Given the description of an element on the screen output the (x, y) to click on. 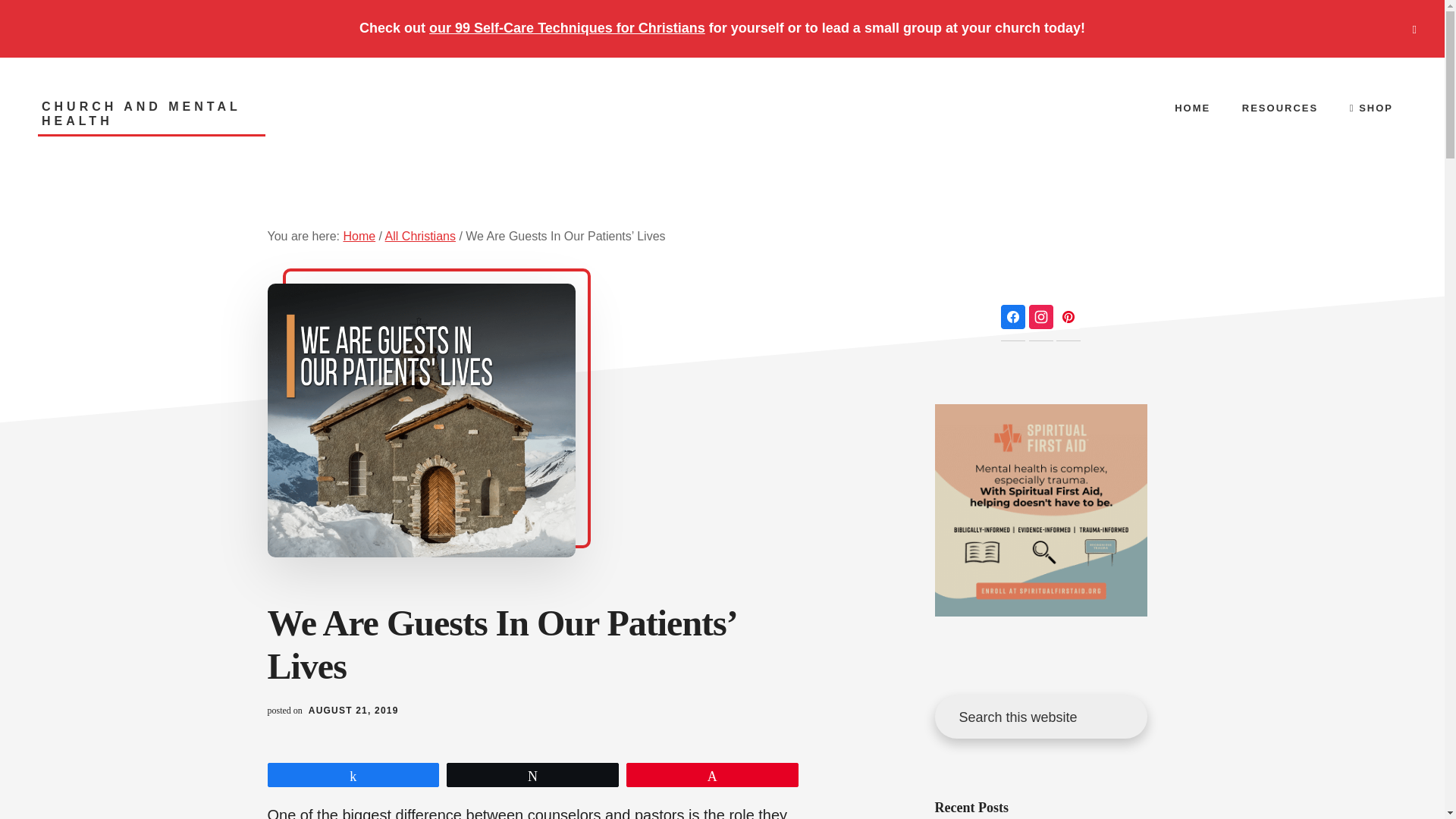
All Christians (420, 236)
RESOURCES (1280, 107)
CHURCH AND MENTAL HEALTH (150, 117)
HOME (1192, 107)
our 99 Self-Care Techniques for Christians (566, 28)
SHOP (1371, 107)
Home (358, 236)
